Given the description of an element on the screen output the (x, y) to click on. 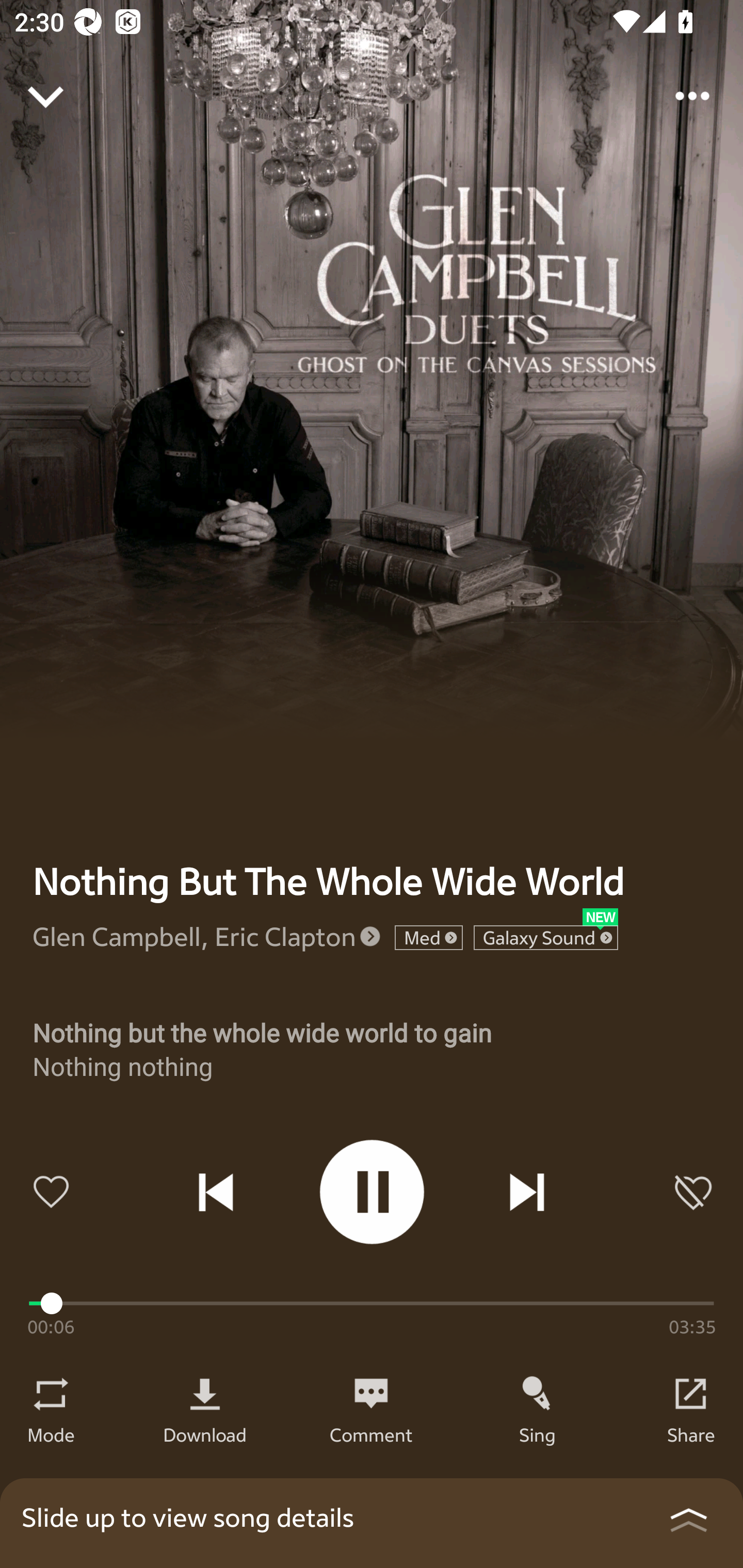
Nothing But The Whole Wide World (328, 881)
Glen Campbell, Eric Clapton (194, 935)
Med (428, 937)
Galaxy Sound (546, 937)
Mode (51, 1434)
Download (204, 1434)
Comment (370, 1434)
Sing (537, 1434)
Share (691, 1434)
Slide up to view song details (371, 1523)
